Given the description of an element on the screen output the (x, y) to click on. 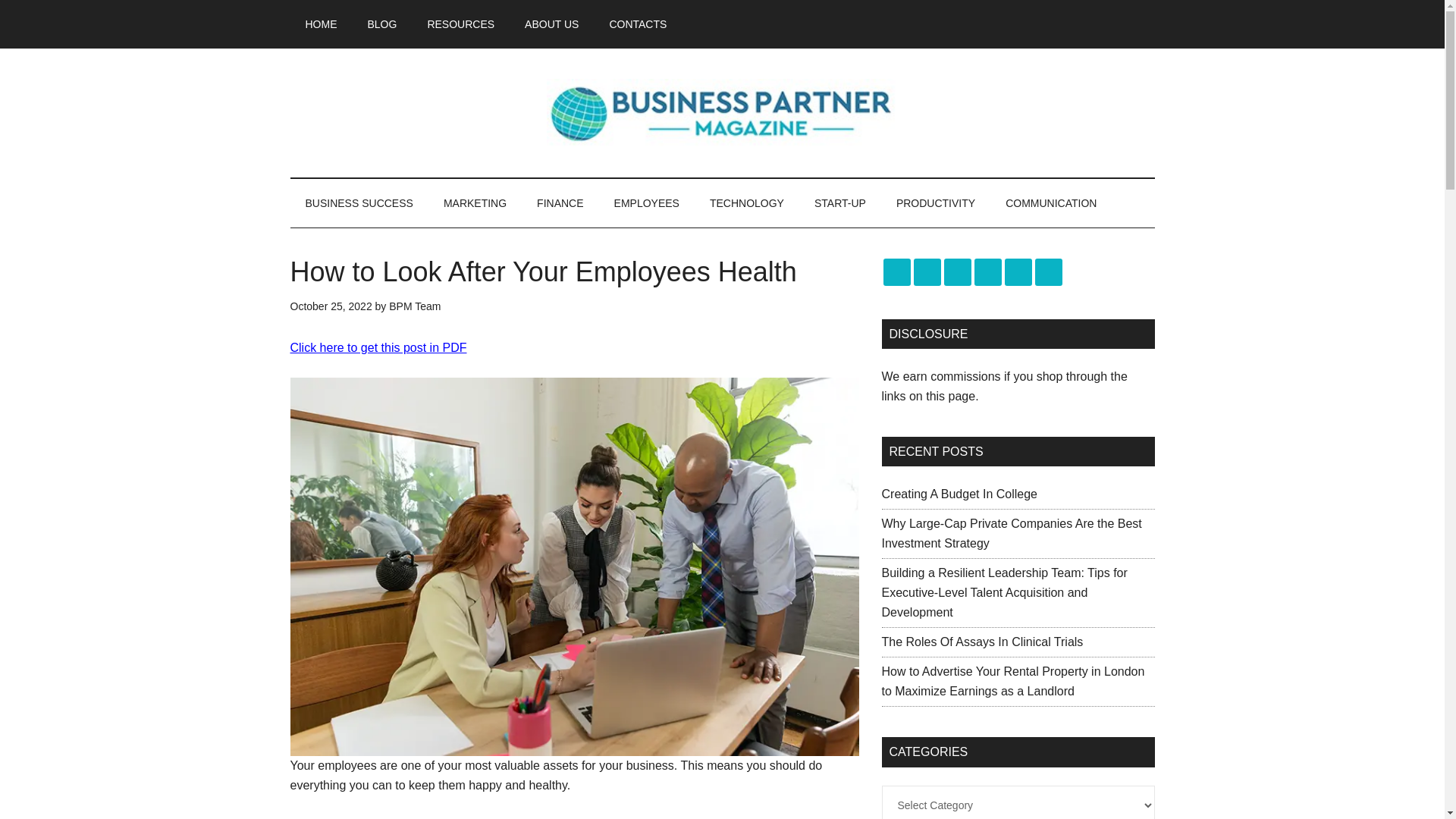
CONTACTS (637, 24)
EMPLOYEES (646, 203)
Business Partner Magazine (721, 112)
PRODUCTIVITY (935, 203)
ABOUT US (551, 24)
BLOG (382, 24)
HOME (320, 24)
MARKETING (474, 203)
FINANCE (559, 203)
START-UP (839, 203)
Click here to get this post in PDF (377, 347)
COMMUNICATION (1051, 203)
TECHNOLOGY (746, 203)
RESOURCES (460, 24)
